Given the description of an element on the screen output the (x, y) to click on. 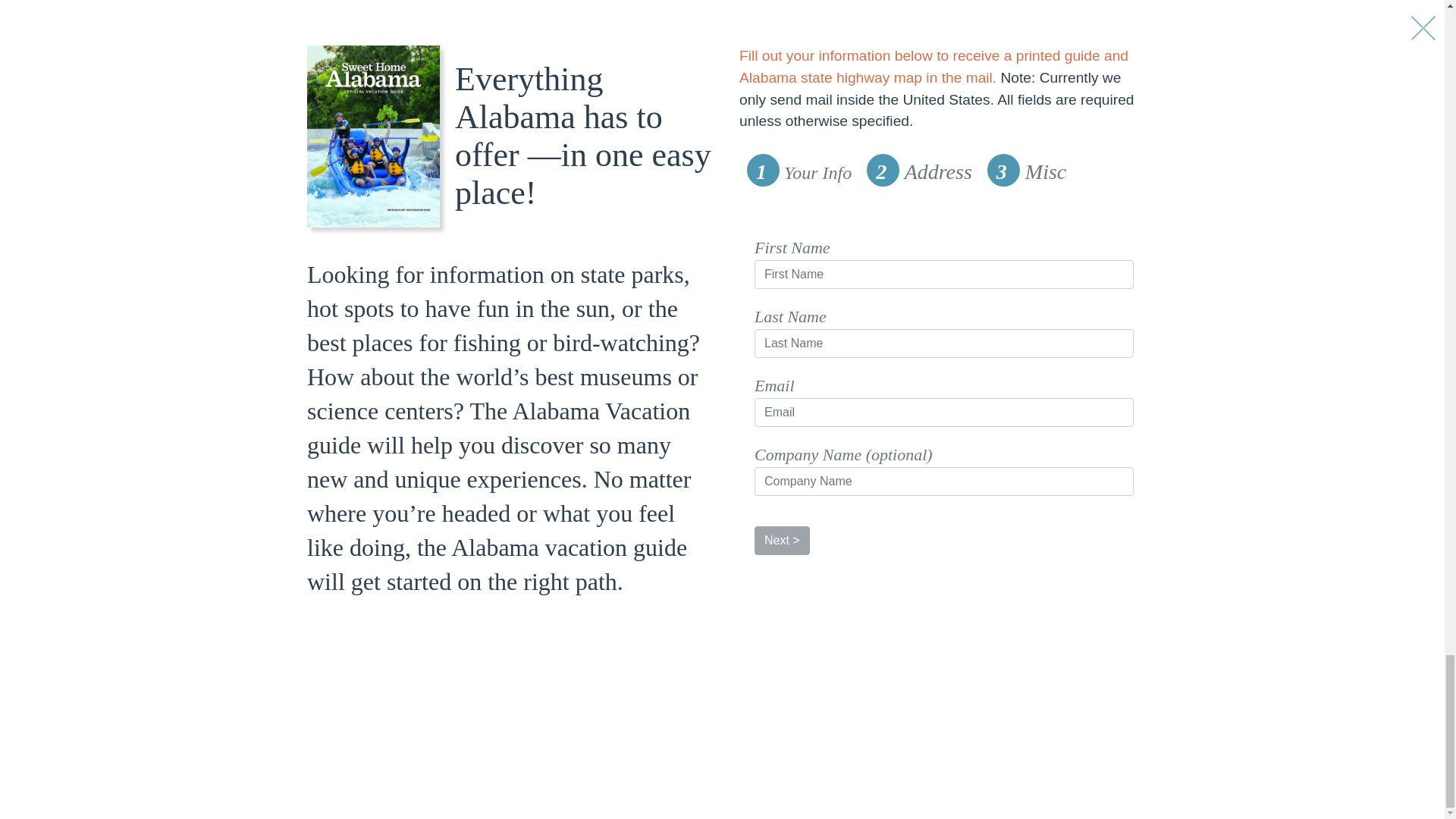
Economic Impact Reports, Industry News and Resources (628, 632)
